Given the description of an element on the screen output the (x, y) to click on. 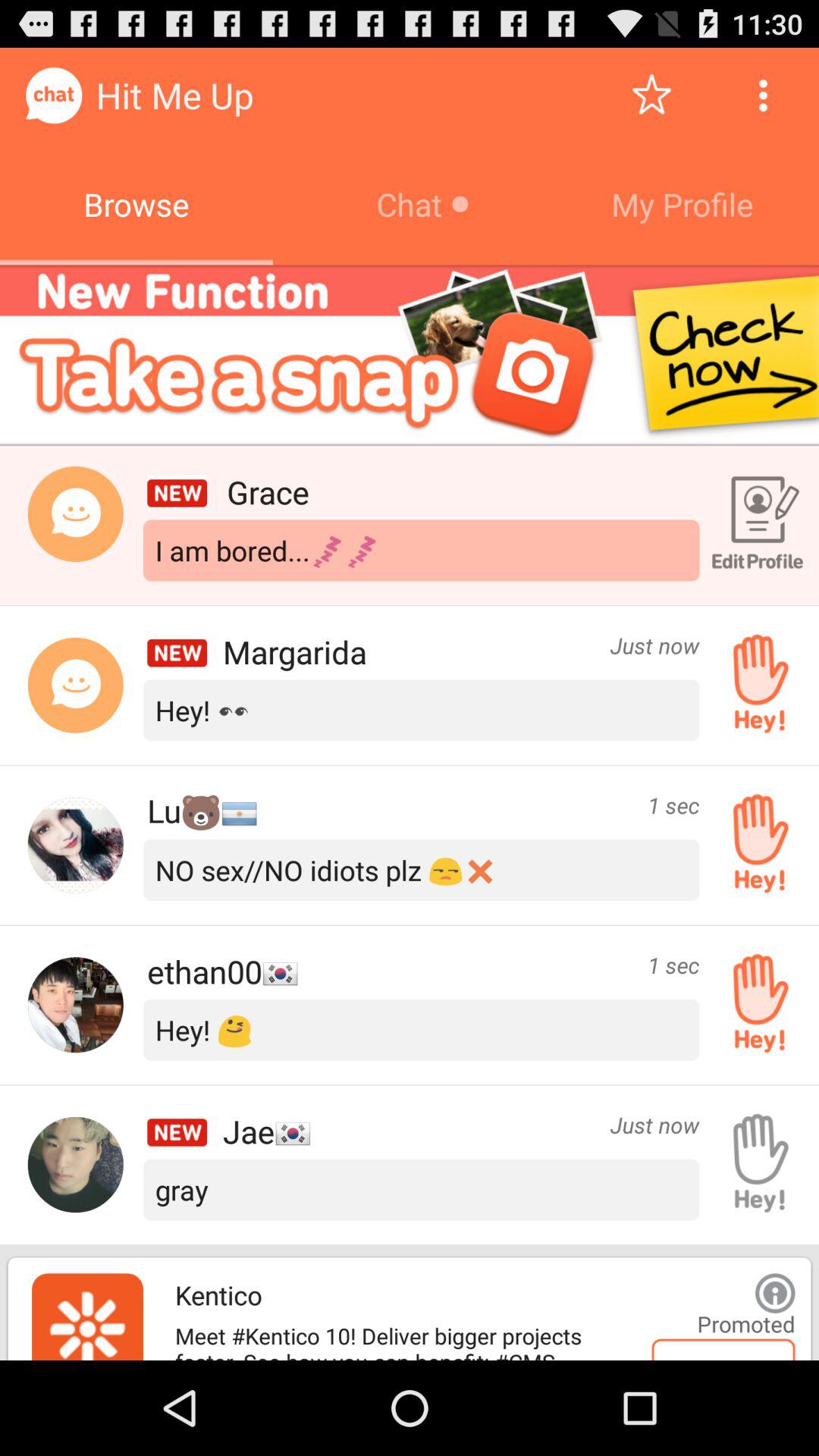
get promoter 's information (775, 1293)
